Given the description of an element on the screen output the (x, y) to click on. 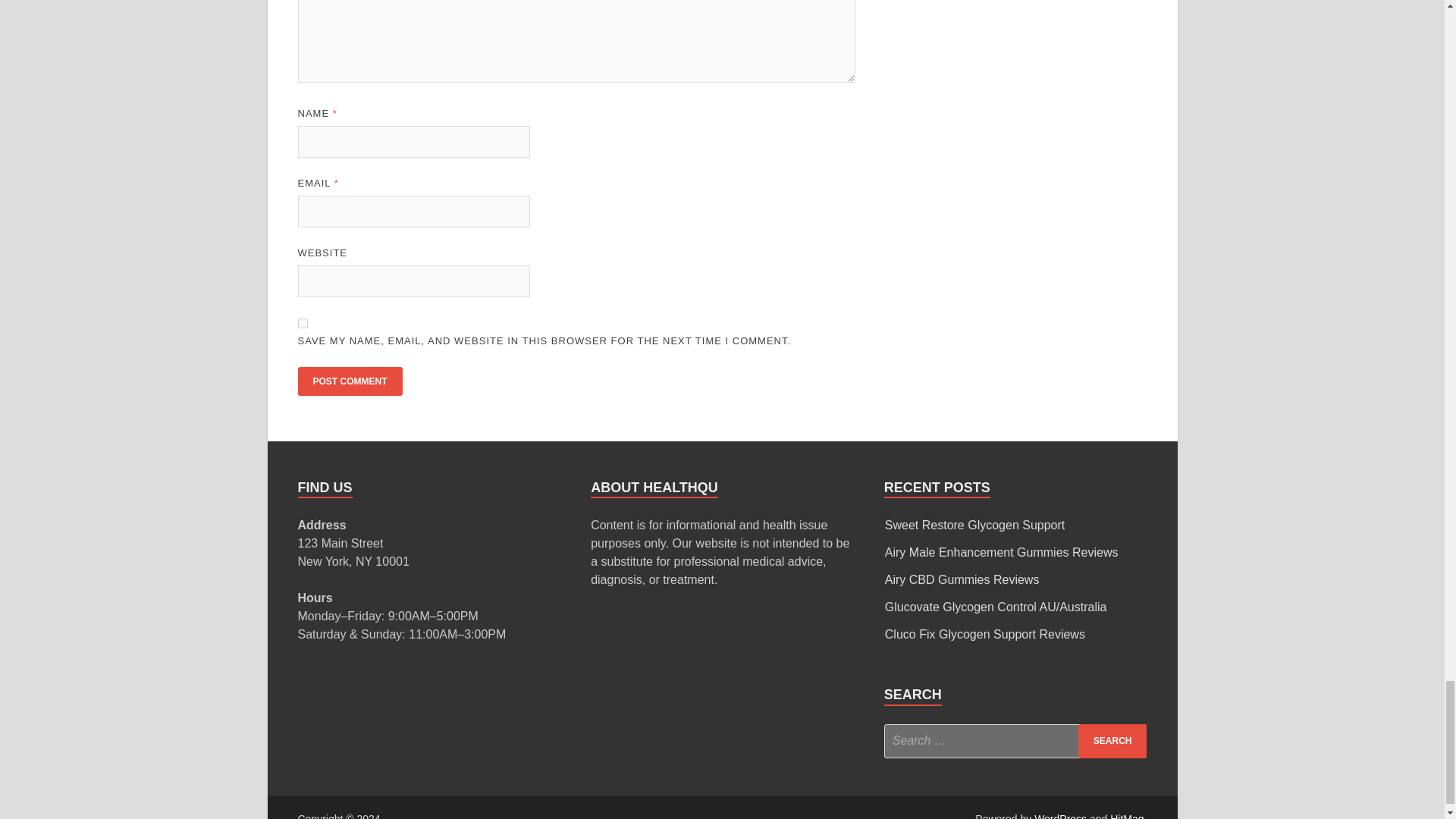
yes (302, 323)
Post Comment (349, 380)
Search (1112, 740)
Search (1112, 740)
